Given the description of an element on the screen output the (x, y) to click on. 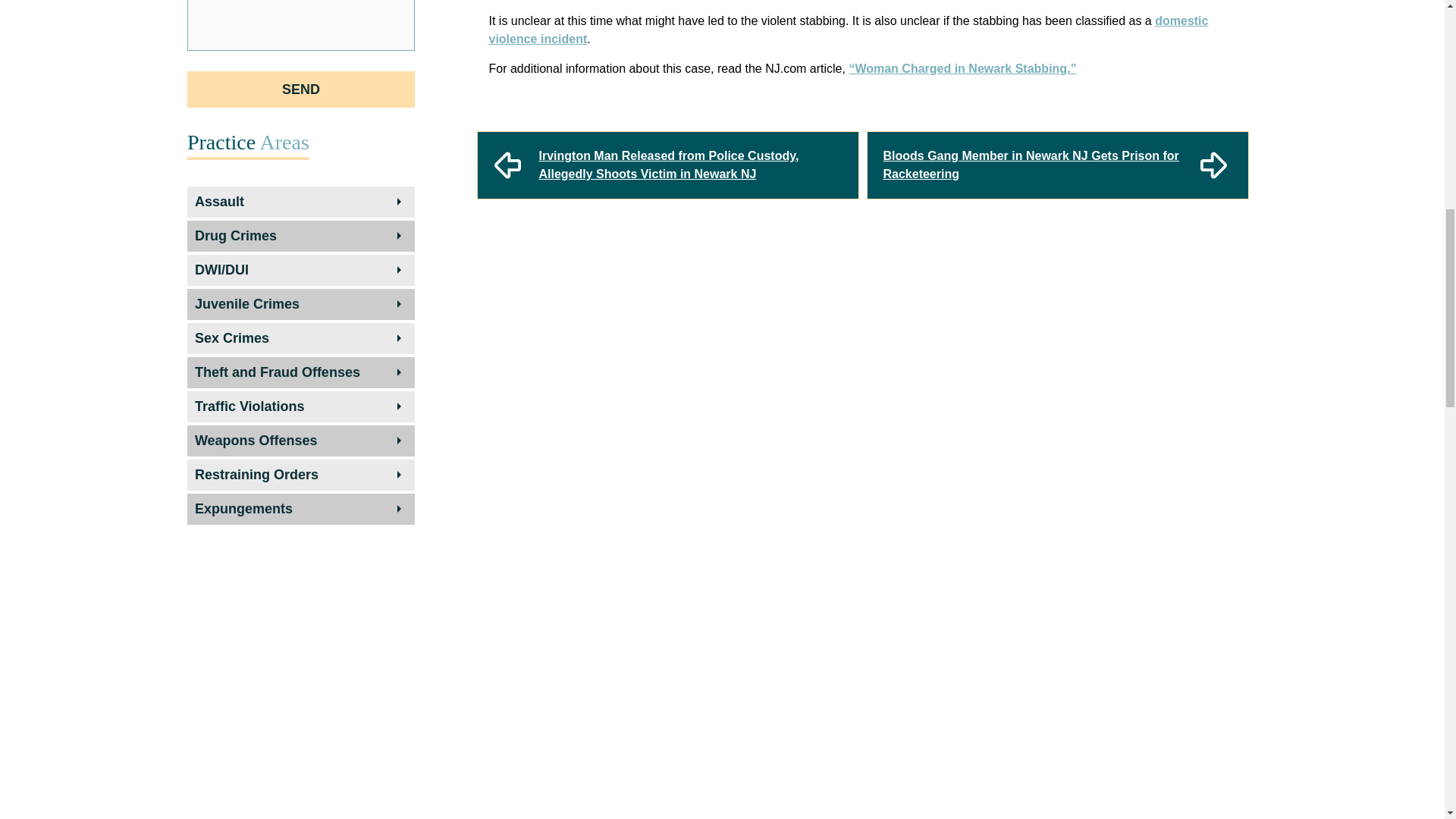
Drug Crimes (300, 236)
Send (300, 89)
Send (300, 89)
Assault (300, 201)
